Given the description of an element on the screen output the (x, y) to click on. 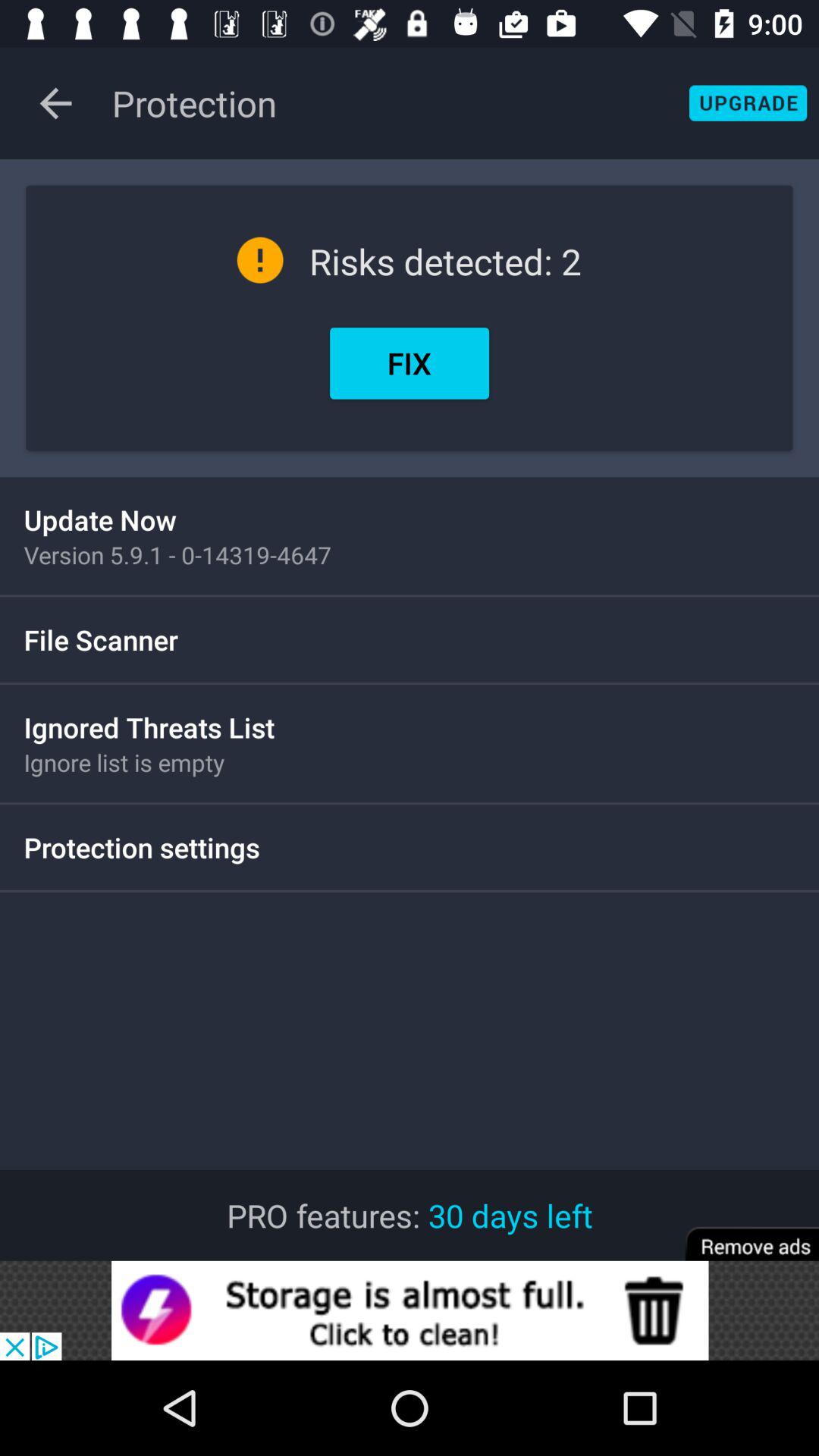
go to previous (55, 103)
